Given the description of an element on the screen output the (x, y) to click on. 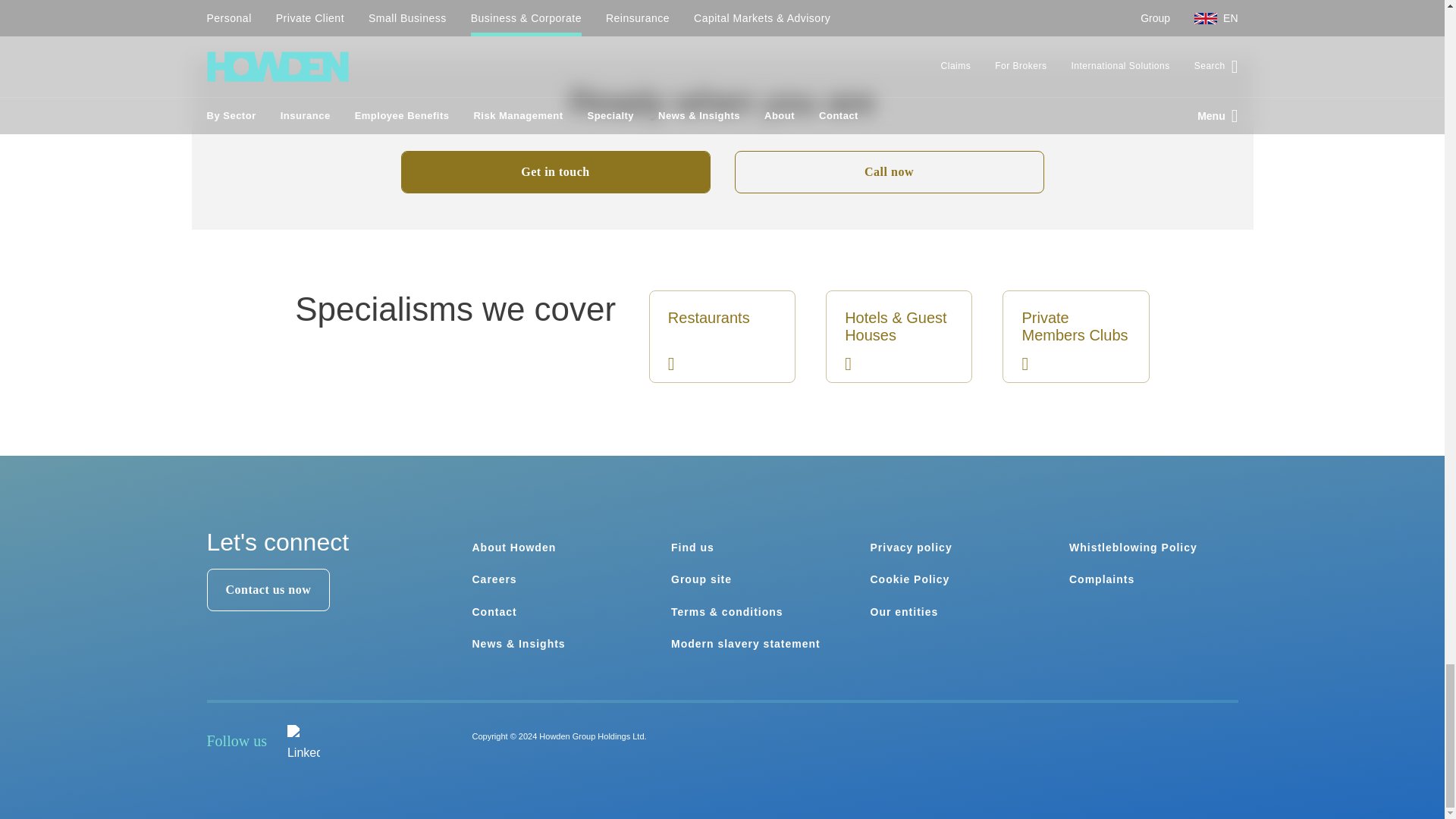
Complaints (1101, 579)
Whistleblowing Policy (1132, 547)
About Howden (513, 547)
Cookie Policy (910, 579)
Privacy policy (911, 547)
Group site (701, 579)
Modern slavery statement (746, 644)
Find us (692, 547)
Contact  (493, 612)
Careers (493, 579)
Our entities (904, 612)
